Given the description of an element on the screen output the (x, y) to click on. 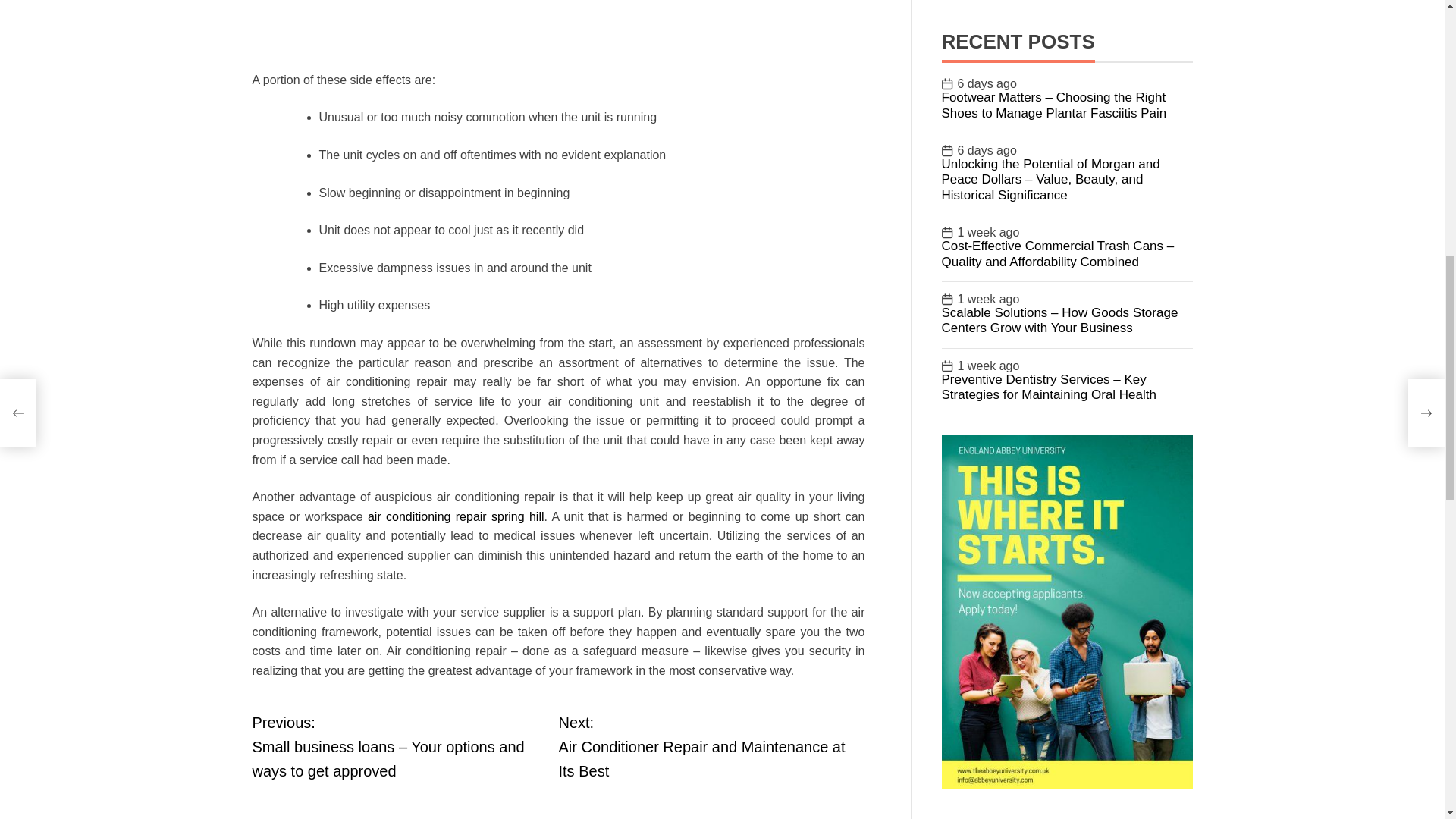
air conditioning repair spring hill (710, 746)
